Given the description of an element on the screen output the (x, y) to click on. 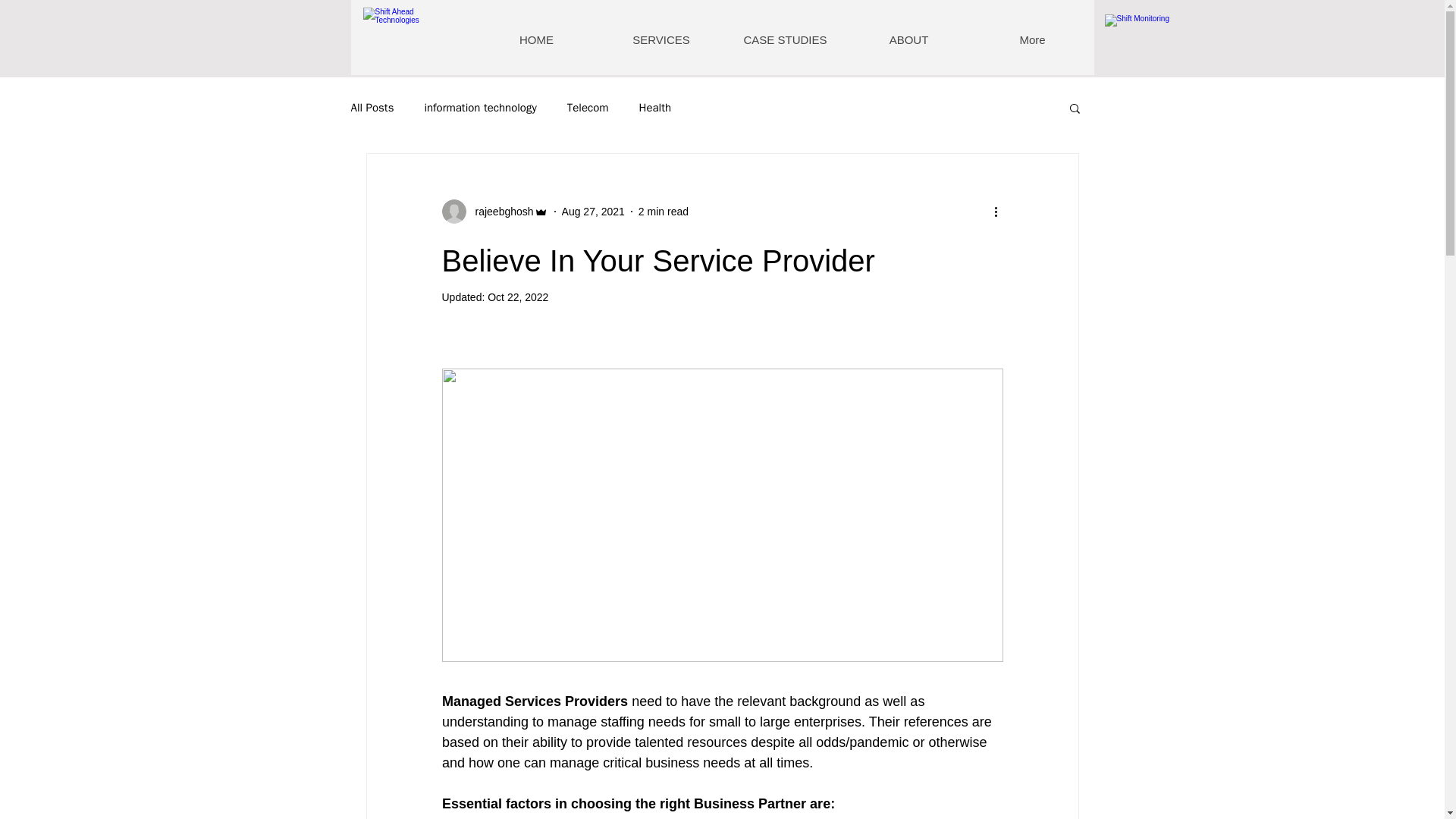
Oct 22, 2022 (517, 297)
2 min read (663, 210)
ABOUT (907, 39)
CASE STUDIES (785, 39)
HOME (536, 39)
Aug 27, 2021 (593, 210)
All Posts (371, 106)
Telecom (587, 106)
Health (655, 106)
Shift Ahead Monitoring (1143, 40)
